Given the description of an element on the screen output the (x, y) to click on. 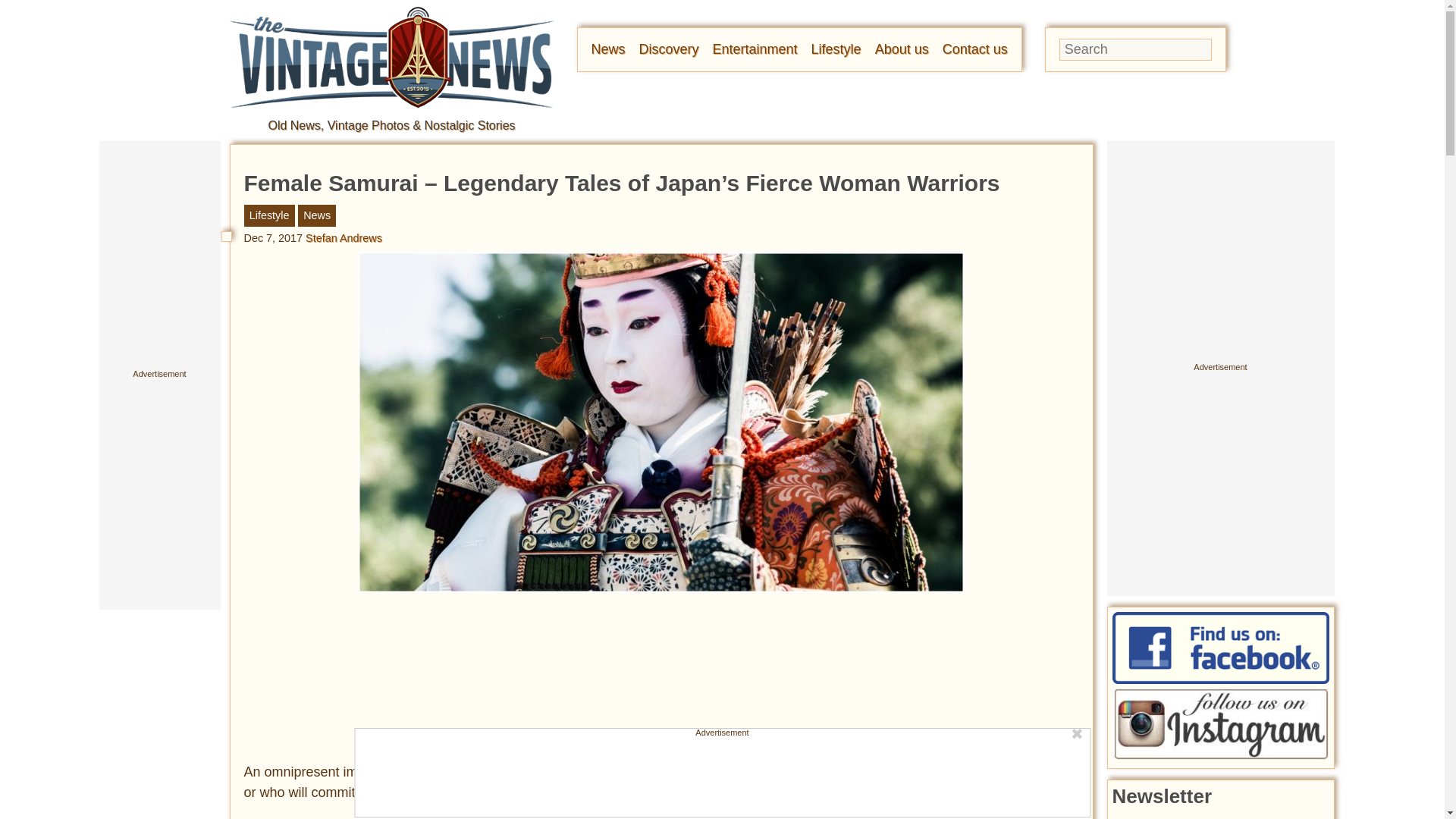
Contact us (974, 48)
News (608, 48)
About us (901, 48)
Entertainment (755, 48)
Lifestyle (835, 48)
Discovery (668, 48)
